Given the description of an element on the screen output the (x, y) to click on. 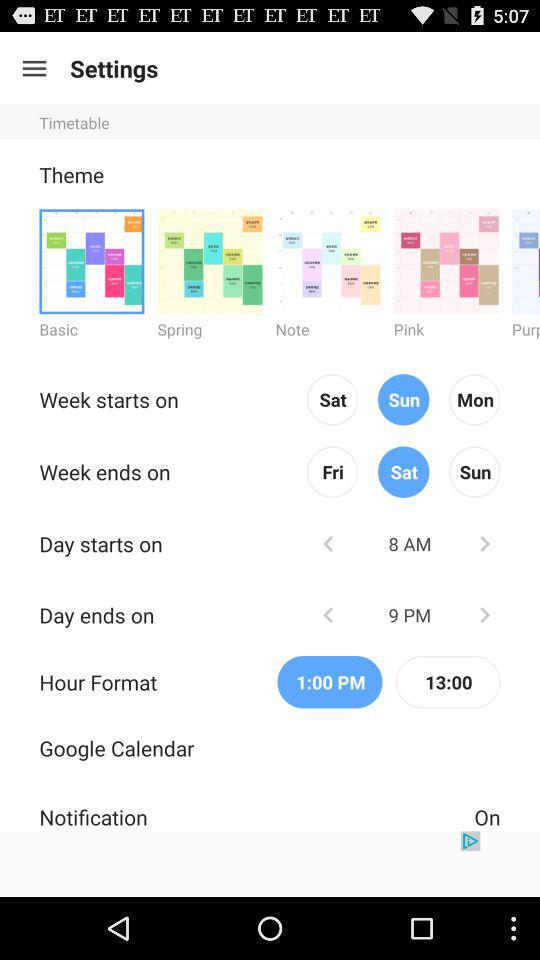
theme for weakly chert button (327, 260)
